Given the description of an element on the screen output the (x, y) to click on. 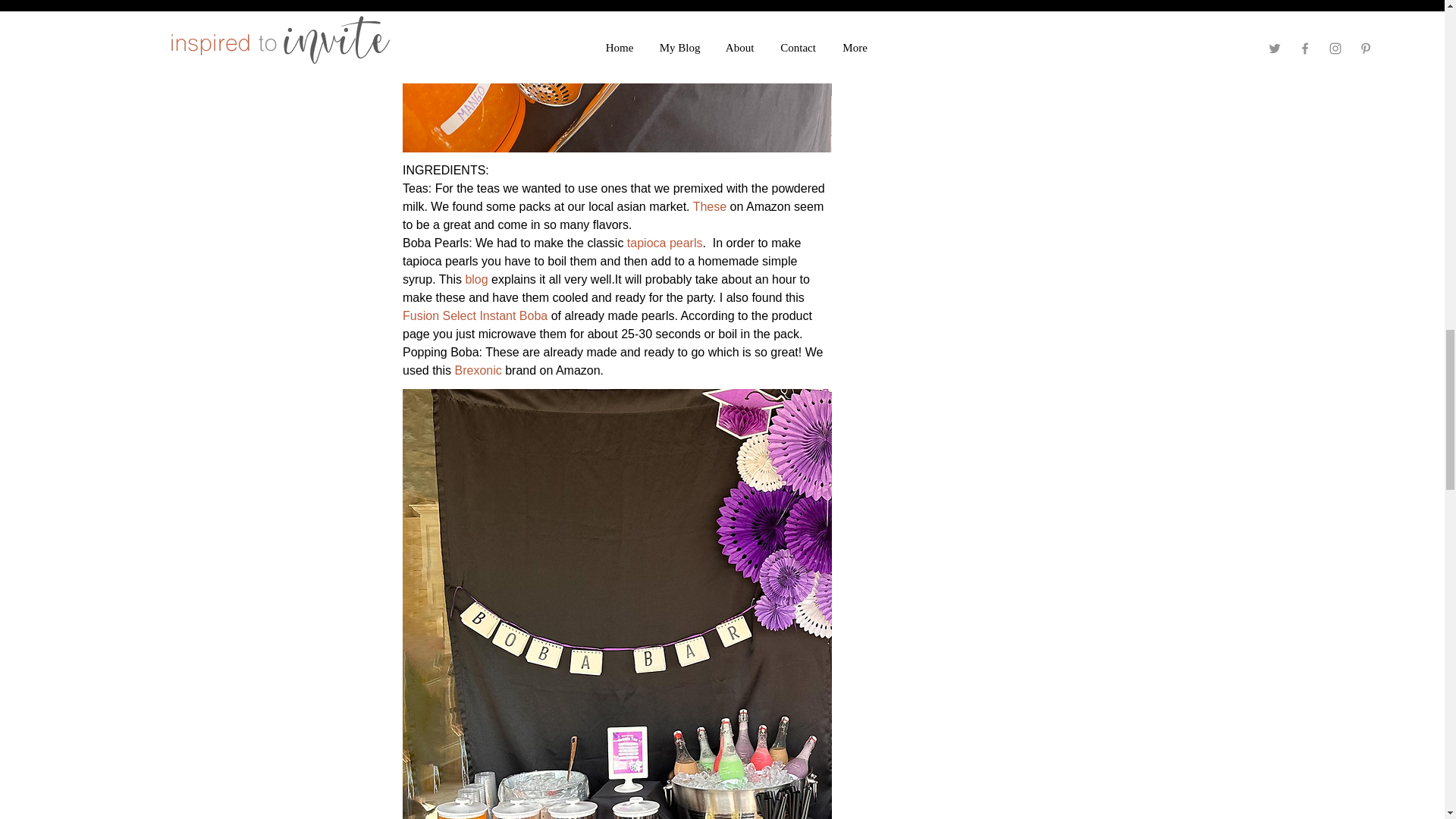
These (709, 205)
Fusion Select Instant Boba (474, 315)
tapioca pearls (663, 242)
blog (475, 278)
Brexonic (477, 369)
